Given the description of an element on the screen output the (x, y) to click on. 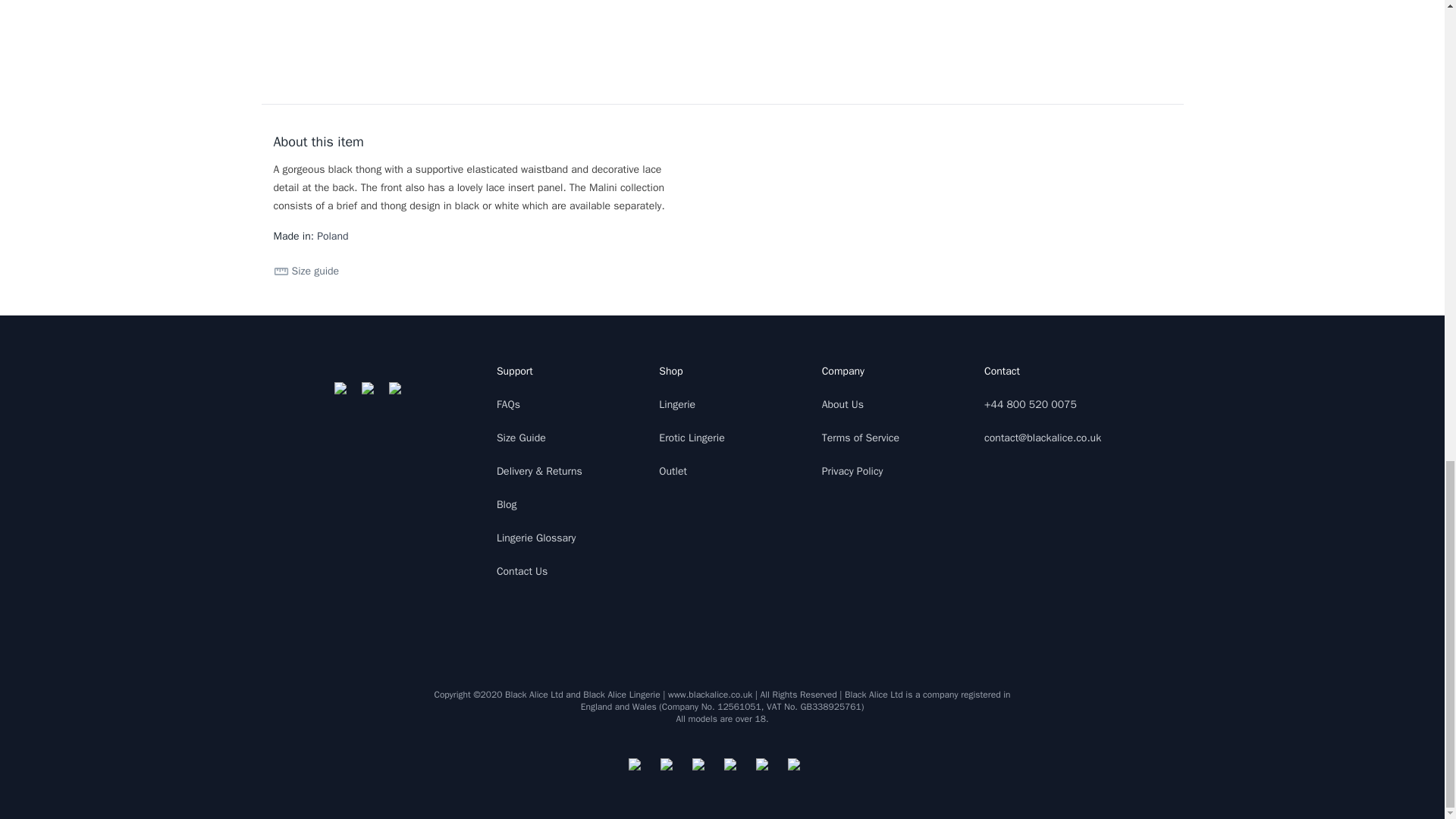
Contact Us (521, 571)
Lingerie (677, 404)
Size guide (306, 271)
Size Guide (521, 437)
Erotic Lingerie (691, 437)
Blog (506, 504)
Lingerie Glossary (536, 537)
FAQs (507, 404)
